Given the description of an element on the screen output the (x, y) to click on. 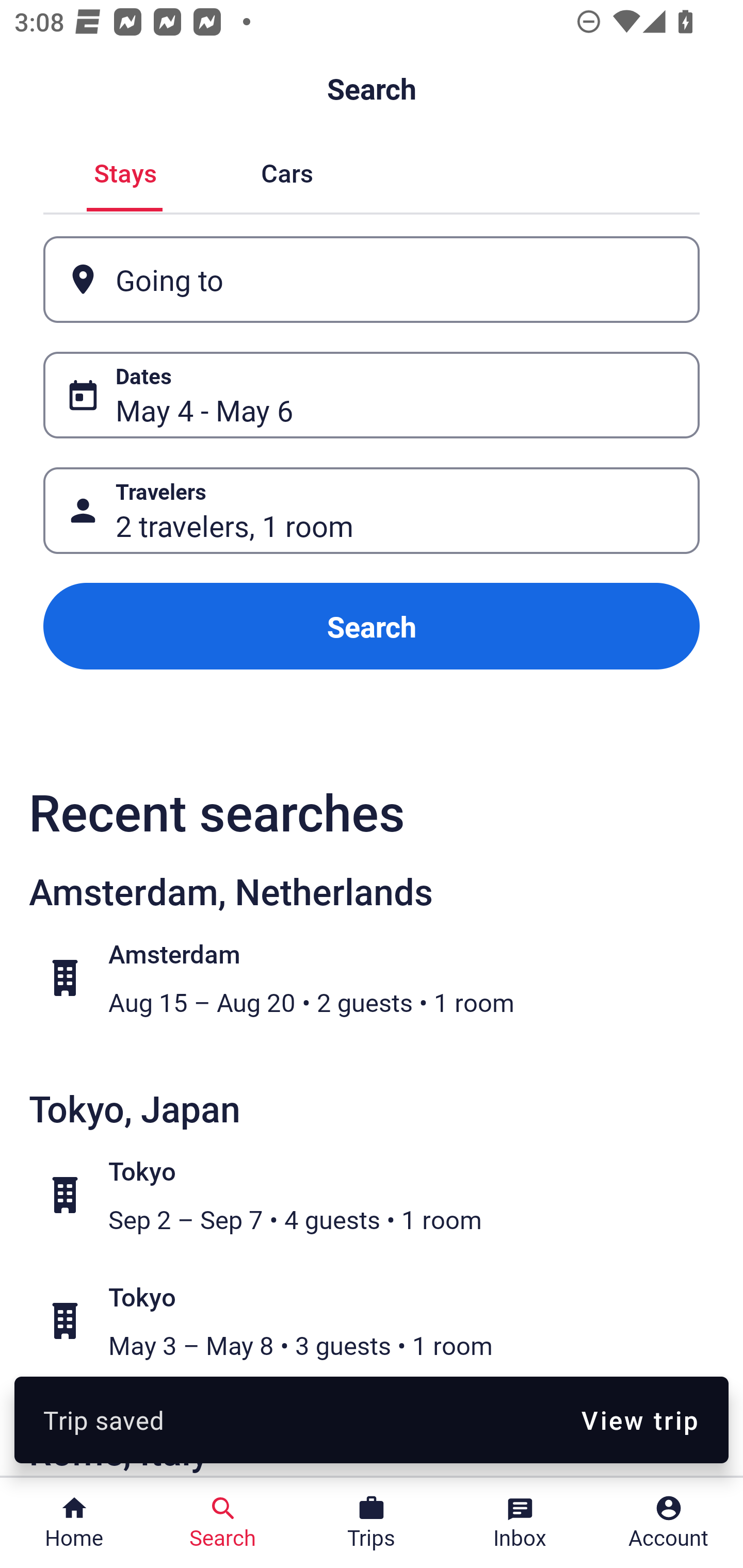
Cars (286, 171)
Going to Button (371, 279)
Dates Button May 4 - May 6 (371, 395)
Travelers Button 2 travelers, 1 room (371, 510)
Search (371, 626)
Amsterdam Aug 15 – Aug 20 • 2 guests • 1 room (382, 978)
Tokyo Sep 2 – Sep 7 • 4 guests • 1 room (382, 1194)
Tokyo May 3 – May 8 • 3 guests • 1 room (382, 1320)
View trip (640, 1419)
Home Home Button (74, 1522)
Trips Trips Button (371, 1522)
Inbox Inbox Button (519, 1522)
Account Profile. Button (668, 1522)
